Given the description of an element on the screen output the (x, y) to click on. 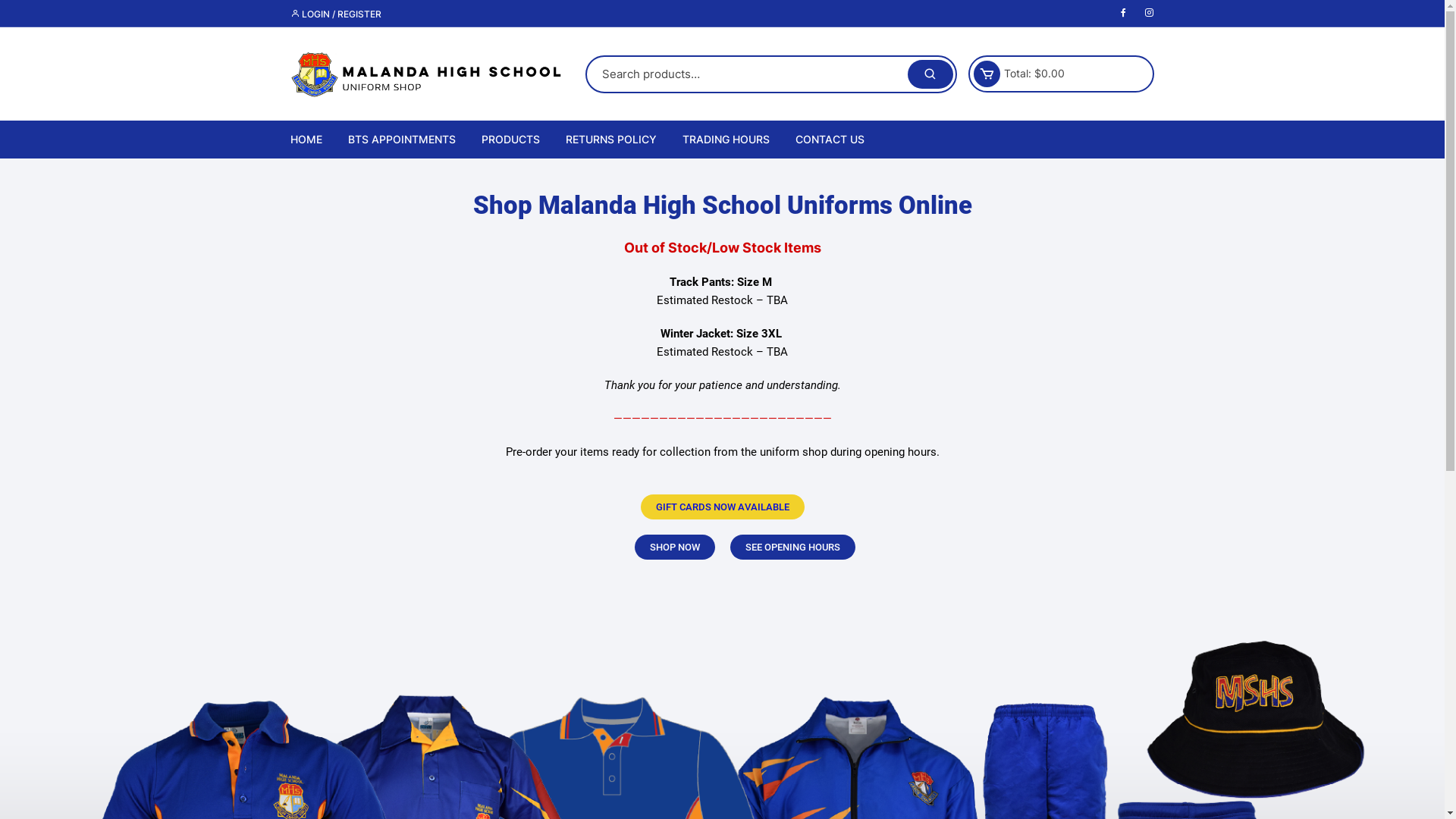
HOME Element type: text (310, 139)
BTS APPOINTMENTS Element type: text (401, 139)
RETURNS POLICY Element type: text (610, 139)
PRODUCTS Element type: text (510, 139)
TRADING HOURS Element type: text (725, 139)
LOGIN / REGISTER Element type: text (334, 12)
CONTACT US Element type: text (829, 139)
GIFT CARDS NOW AVAILABLE Element type: text (721, 506)
SHOP NOW Element type: text (673, 546)
SEE OPENING HOURS Element type: text (791, 546)
